Given the description of an element on the screen output the (x, y) to click on. 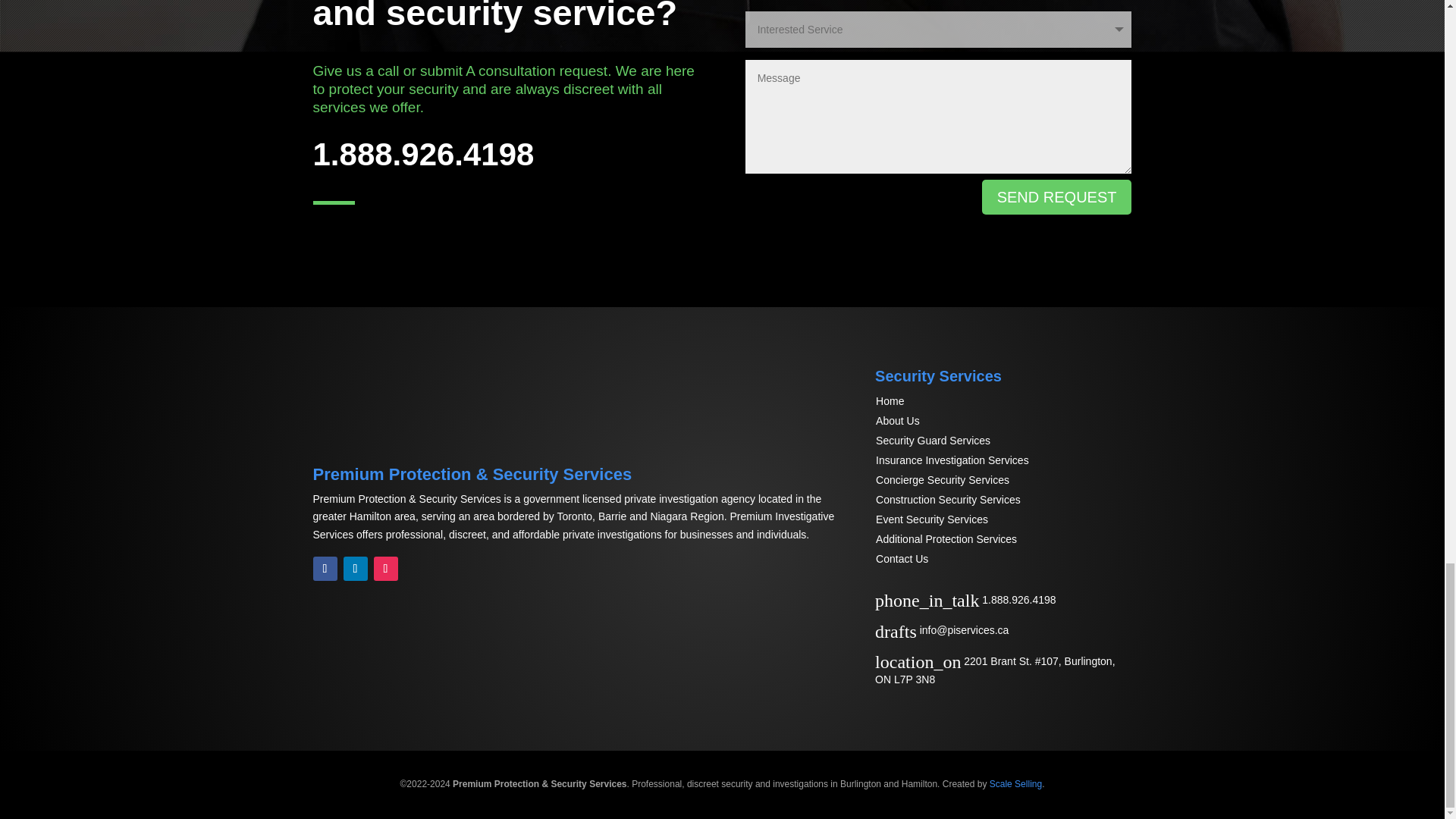
Follow on Instagram (384, 568)
Follow on LinkedIn (354, 568)
Home (890, 400)
SEND REQUEST (1056, 196)
Follow on Facebook (324, 568)
